Given the description of an element on the screen output the (x, y) to click on. 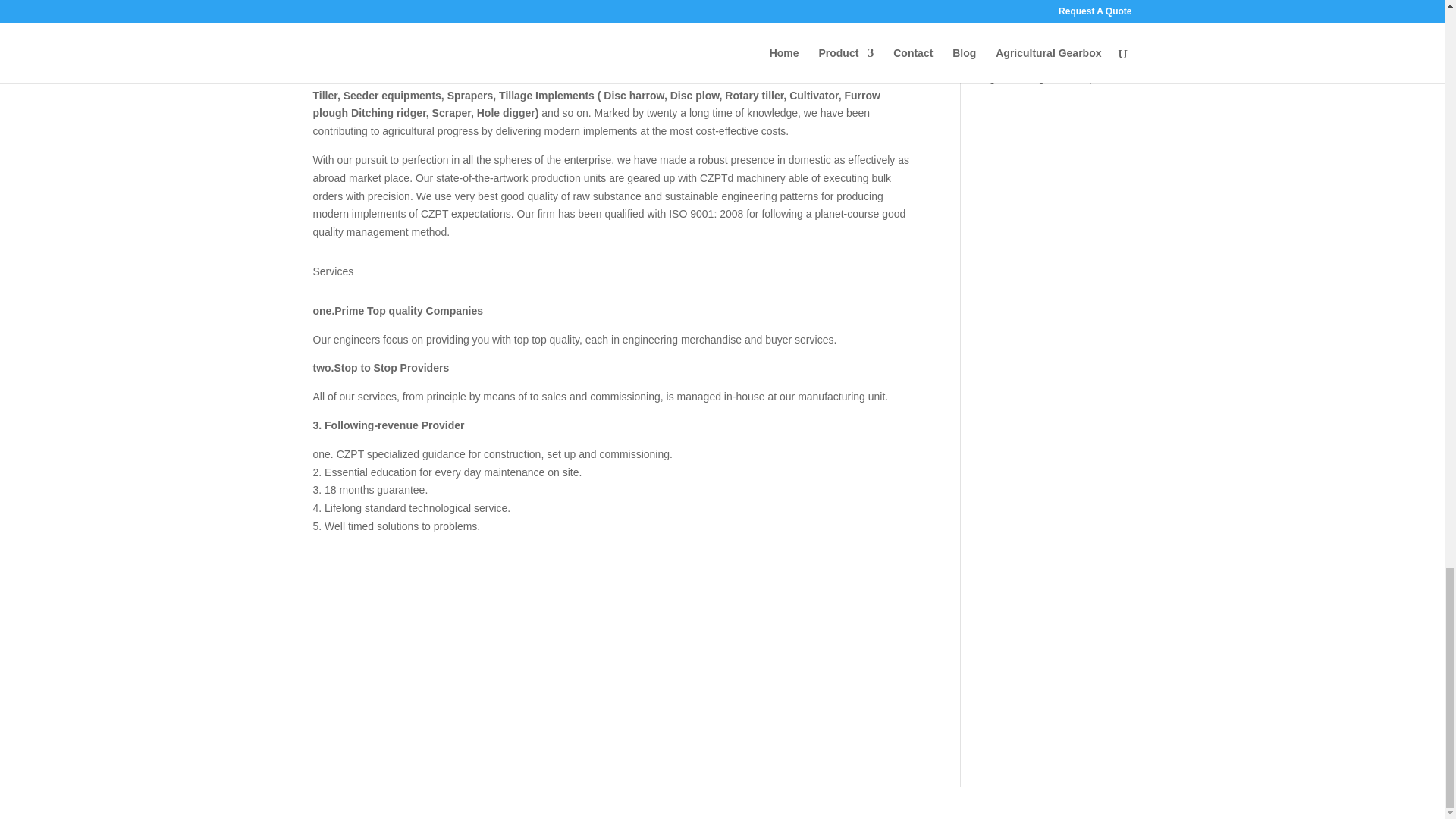
70-100HP 4WD Farm Tractor Agricutural Wheeled Tractor (426, 643)
